Given the description of an element on the screen output the (x, y) to click on. 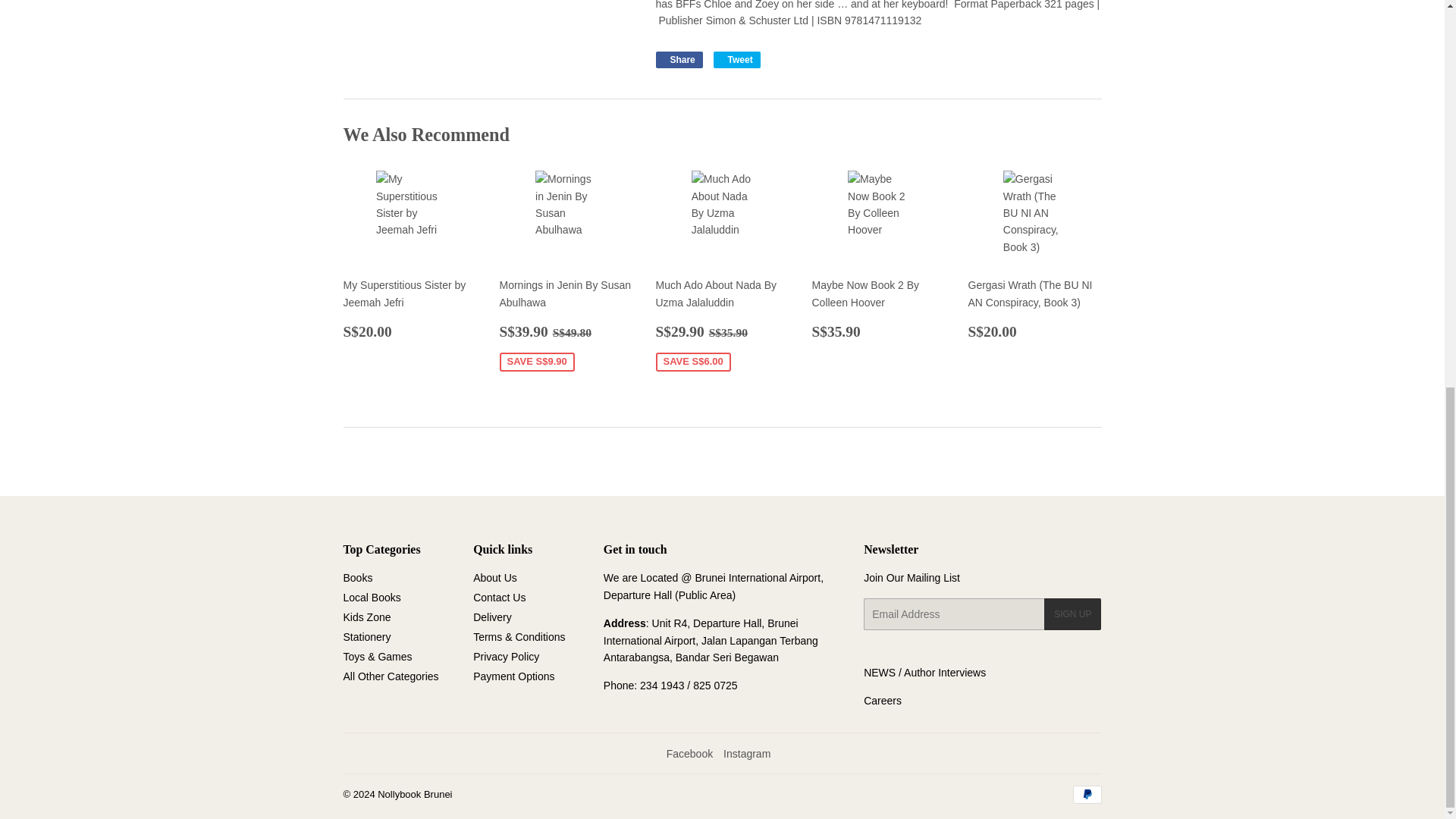
Tweet on Twitter (736, 59)
Author Interviews (944, 672)
PayPal (1085, 794)
News (879, 672)
Share on Facebook (678, 59)
Nollybook Brunei on Facebook (689, 753)
Nollybook Brunei on Instagram (746, 753)
